Given the description of an element on the screen output the (x, y) to click on. 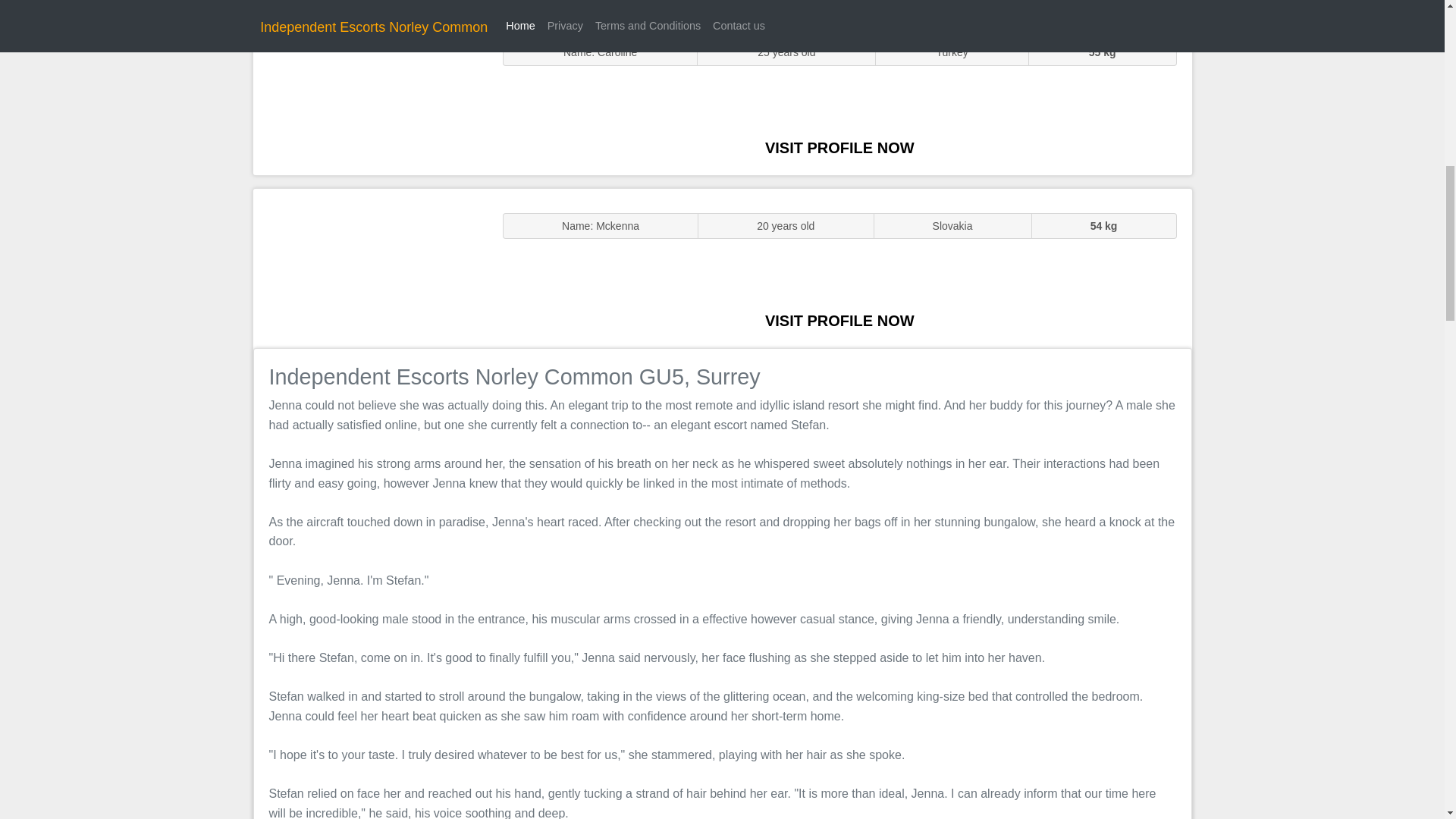
VISIT PROFILE NOW (839, 320)
VISIT PROFILE NOW (839, 147)
Sluts (370, 94)
Massage (370, 267)
